Given the description of an element on the screen output the (x, y) to click on. 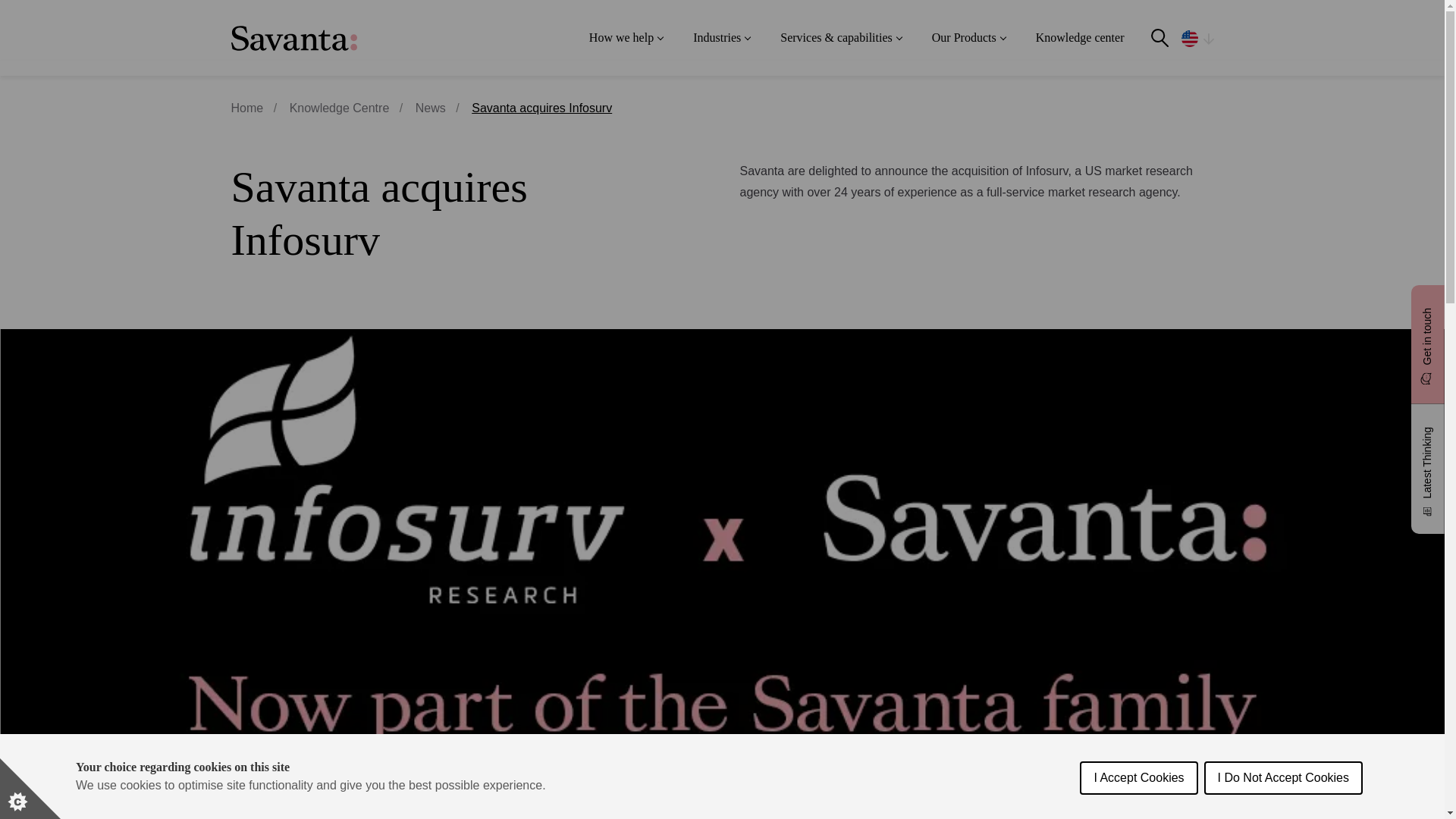
Industries (721, 38)
How we help (625, 38)
